Given the description of an element on the screen output the (x, y) to click on. 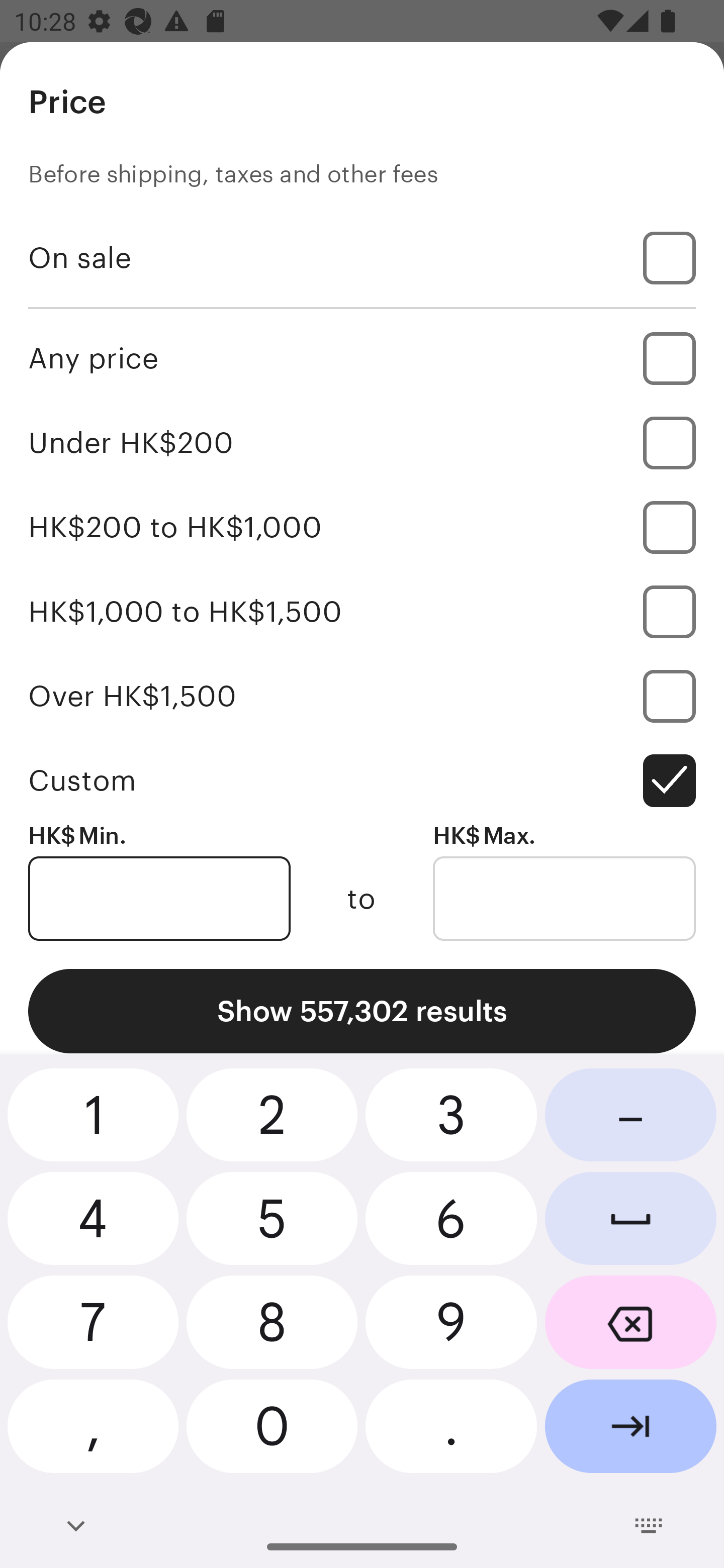
On sale (362, 257)
Any price (362, 357)
Under HK$200 (362, 441)
HK$200 to HK$1,000 (362, 526)
HK$1,000 to HK$1,500 (362, 611)
Over HK$1,500 (362, 695)
Custom (362, 780)
Show 557,302 results (361, 1011)
